Given the description of an element on the screen output the (x, y) to click on. 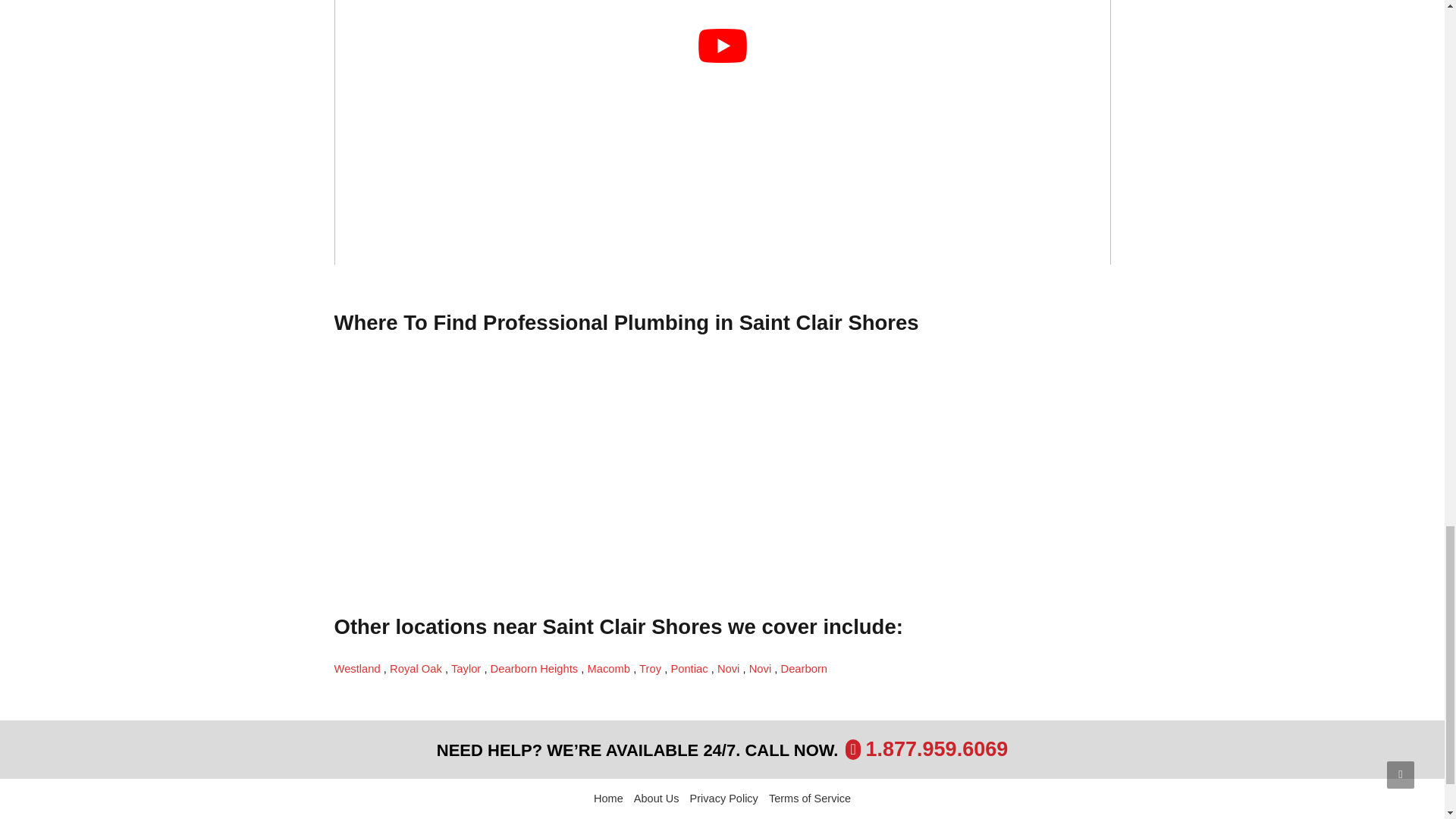
Emergency Plumber in Dearborn, MI (804, 668)
Emergency Plumber Troy (651, 668)
Emergency Plumber in Novi, MI (729, 668)
Emergency Plumber in Royal Oak (417, 668)
Novi (761, 668)
Dearborn Heights (535, 668)
About Us (656, 799)
Emergency Plumber Novi, MI (761, 668)
24H Plumber Pros (616, 817)
Royal Oak (417, 668)
